Given the description of an element on the screen output the (x, y) to click on. 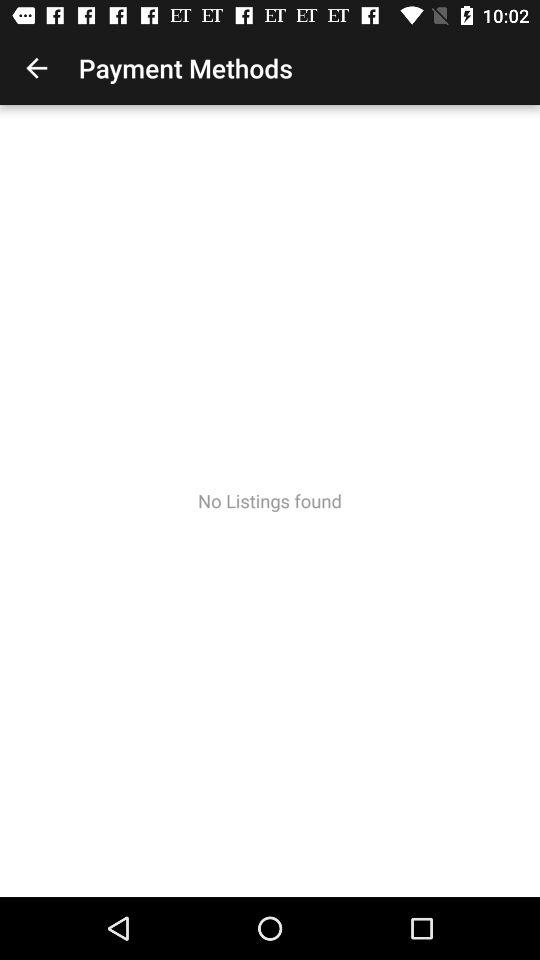
open the icon at the top left corner (36, 68)
